Given the description of an element on the screen output the (x, y) to click on. 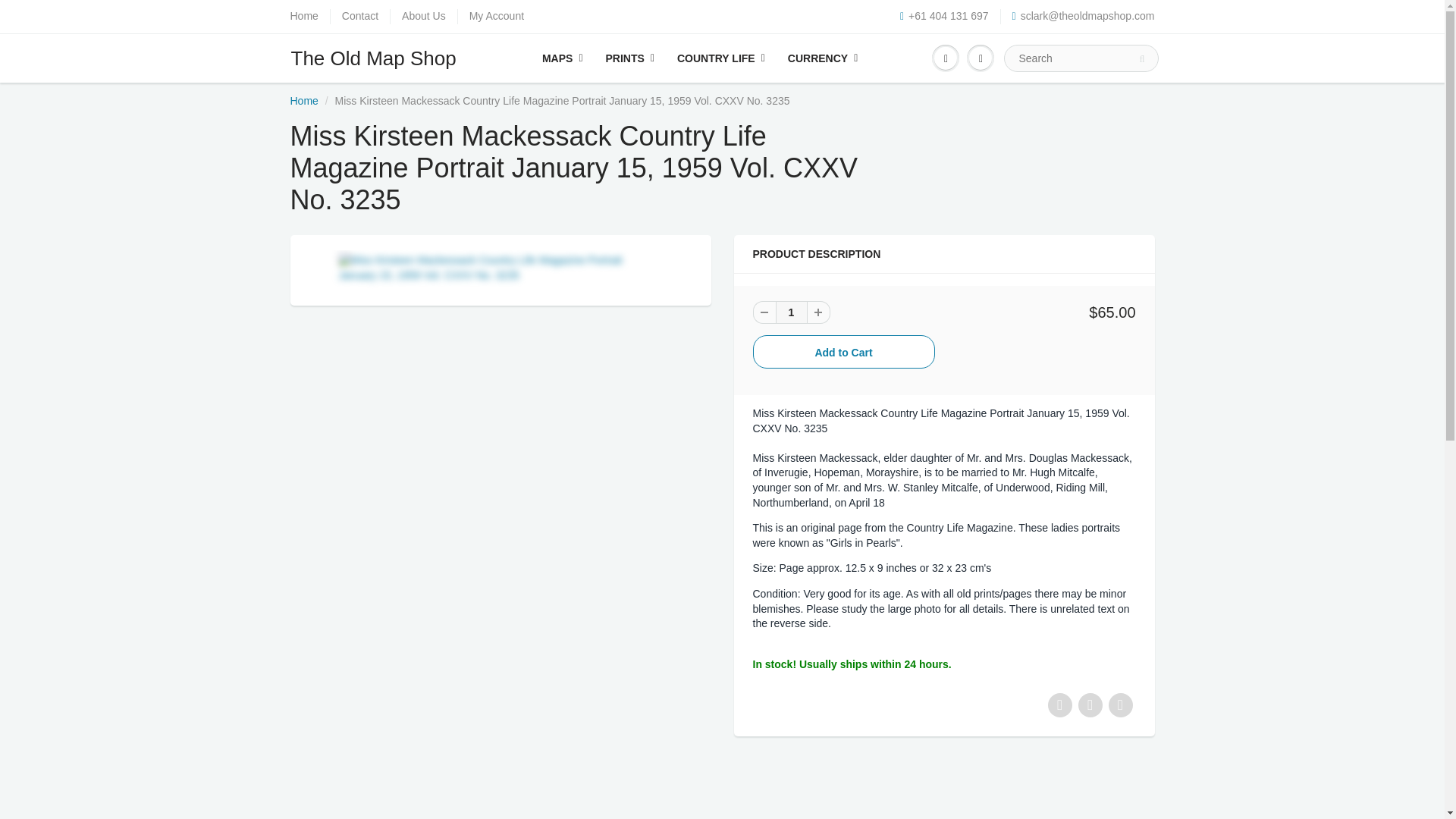
Contact (360, 16)
MAPS (562, 58)
About Us (423, 16)
Home (303, 101)
1 (790, 312)
Home (303, 16)
The Old Map Shop (381, 58)
Add to Cart (843, 351)
My Account (496, 16)
